Given the description of an element on the screen output the (x, y) to click on. 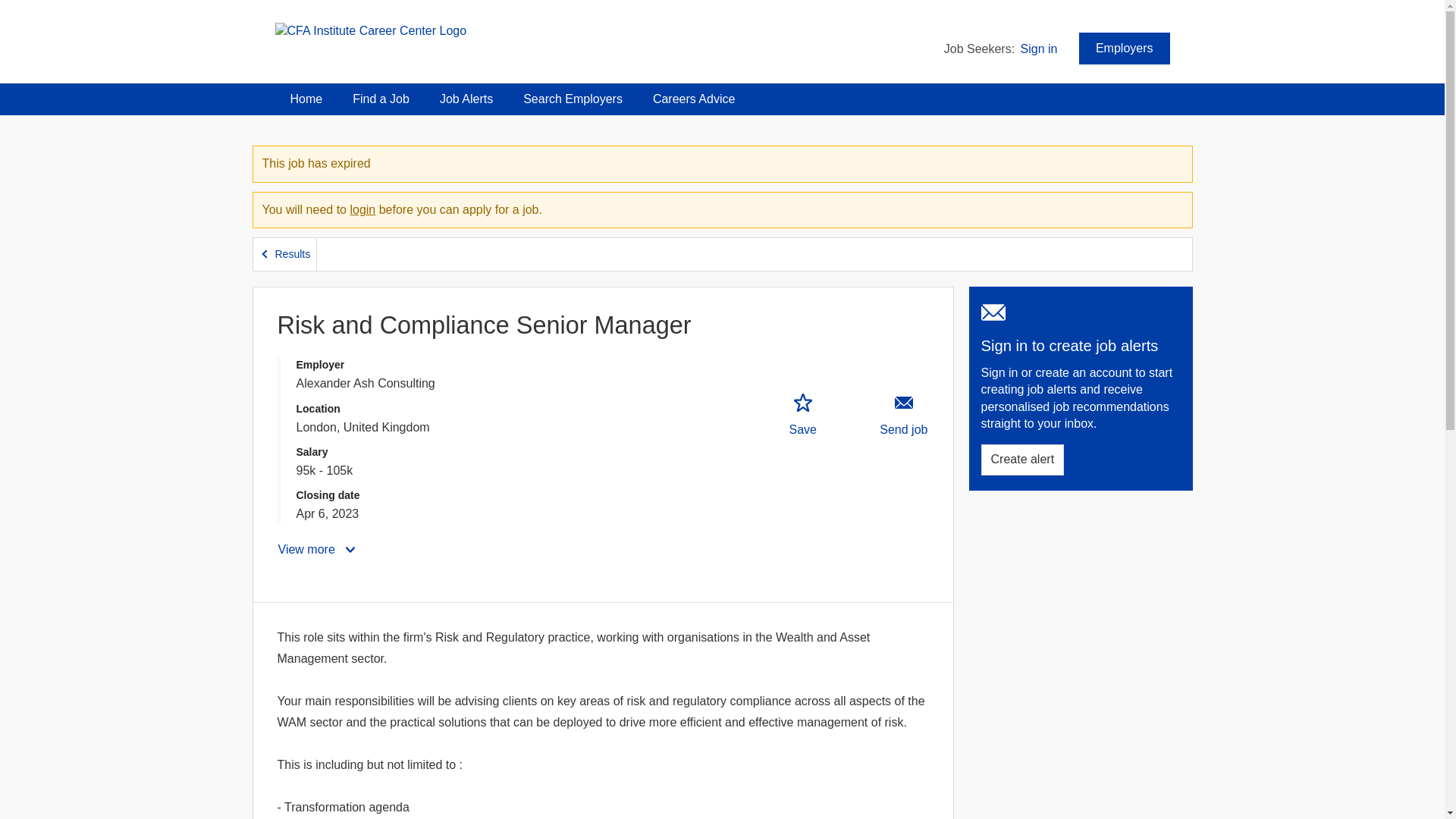
Job Alerts (466, 99)
Search Employers (572, 99)
login (362, 209)
CFA Institute Career Center (370, 30)
Careers Advice (694, 99)
Results (285, 254)
Create alert (1022, 459)
Home (306, 99)
Employers (1124, 48)
Sign in (1038, 48)
View more (318, 549)
Find a Job (381, 99)
